Given the description of an element on the screen output the (x, y) to click on. 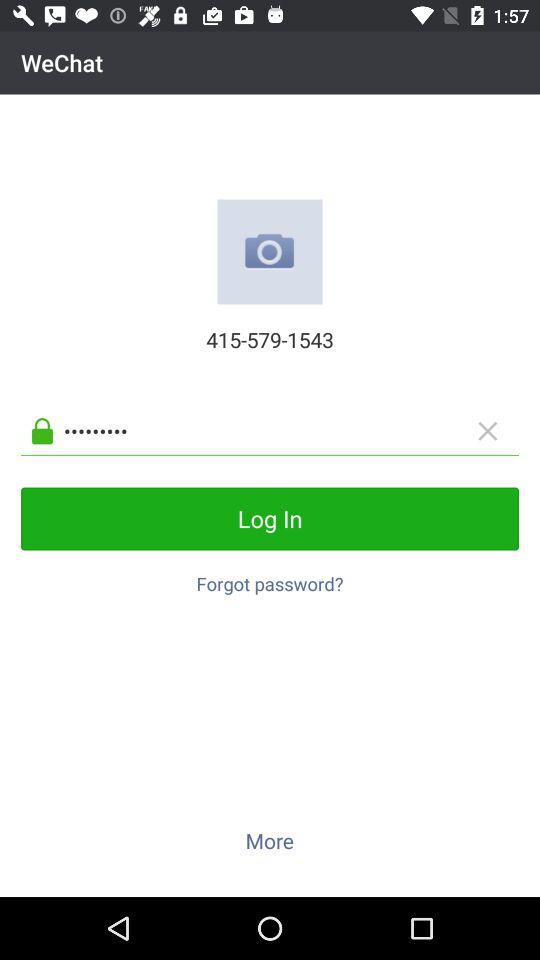
select app below the 415-579-1543 item (285, 430)
